Given the description of an element on the screen output the (x, y) to click on. 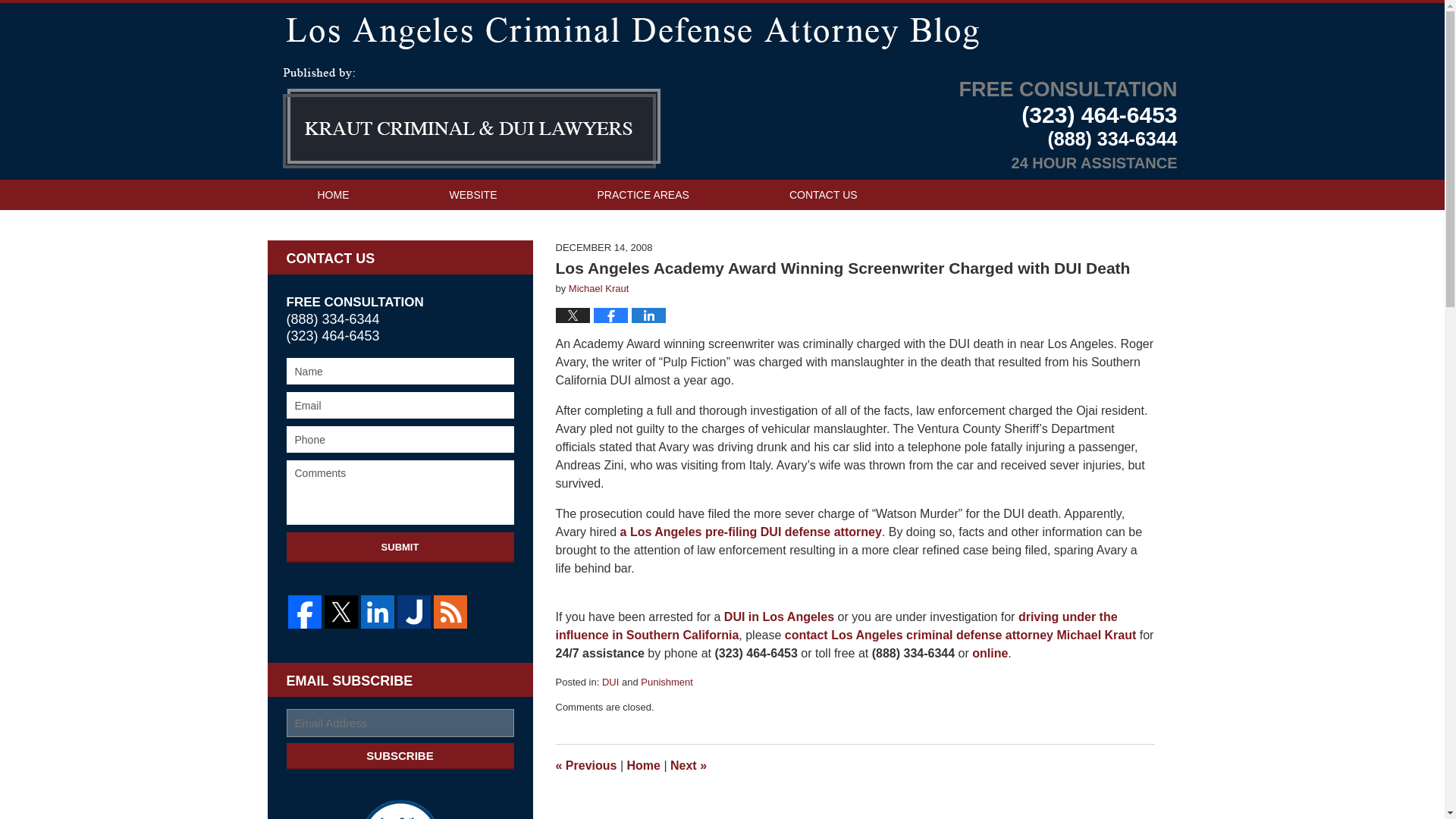
Michael Kraut (598, 288)
Los Angeles Criminal Defense Attorney Blog (470, 117)
HOME (332, 194)
Punishment (666, 681)
DUI (610, 681)
Home (642, 765)
View all posts in DUI (610, 681)
a Los Angeles pre-filing DUI defense attorney (751, 531)
online (989, 653)
Feed (450, 611)
driving under the influence in Southern California (835, 625)
DUI in Los Angeles (778, 616)
Twitter (341, 611)
PRACTICE AREAS (643, 194)
